Given the description of an element on the screen output the (x, y) to click on. 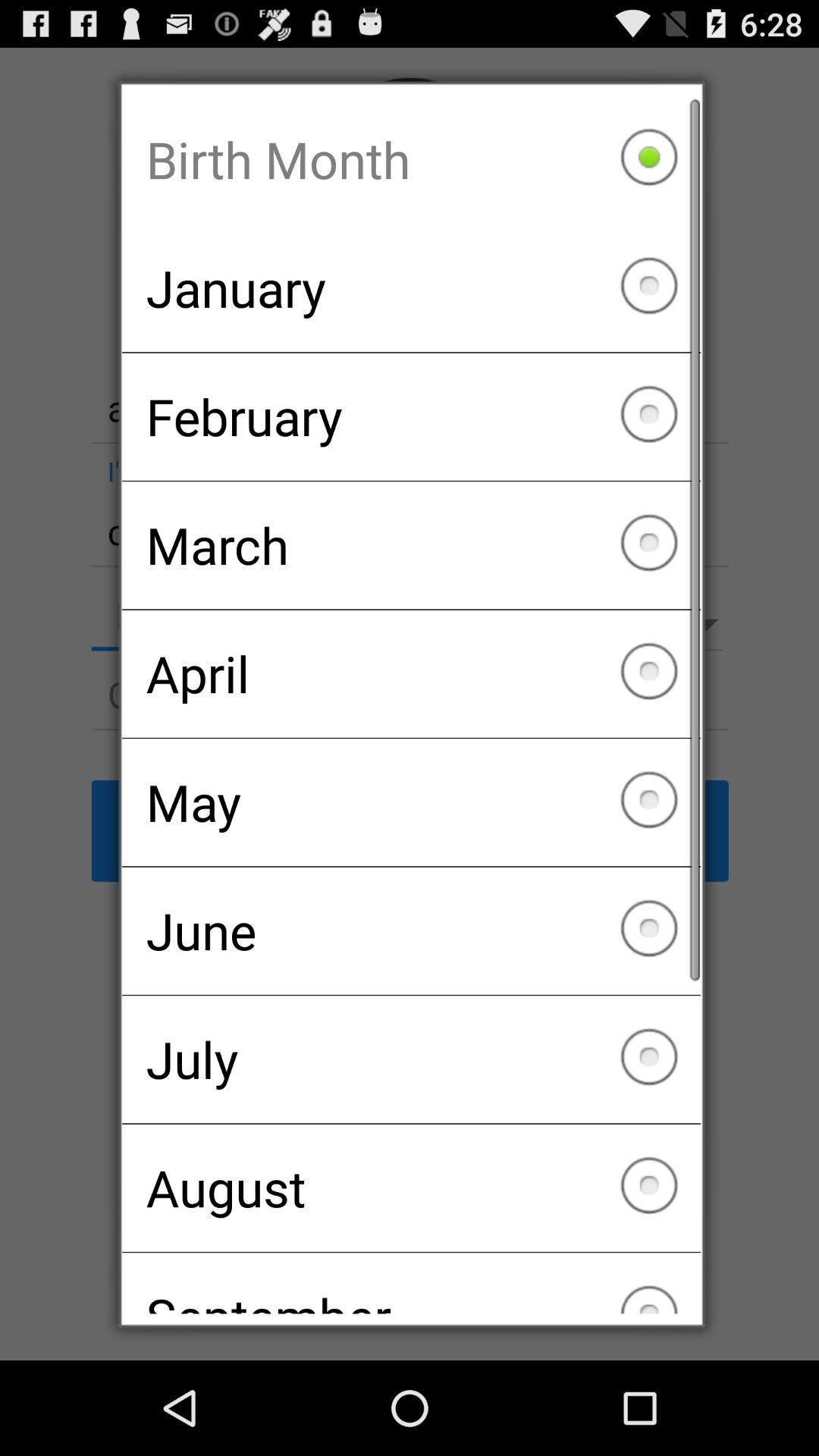
launch the june icon (411, 930)
